Given the description of an element on the screen output the (x, y) to click on. 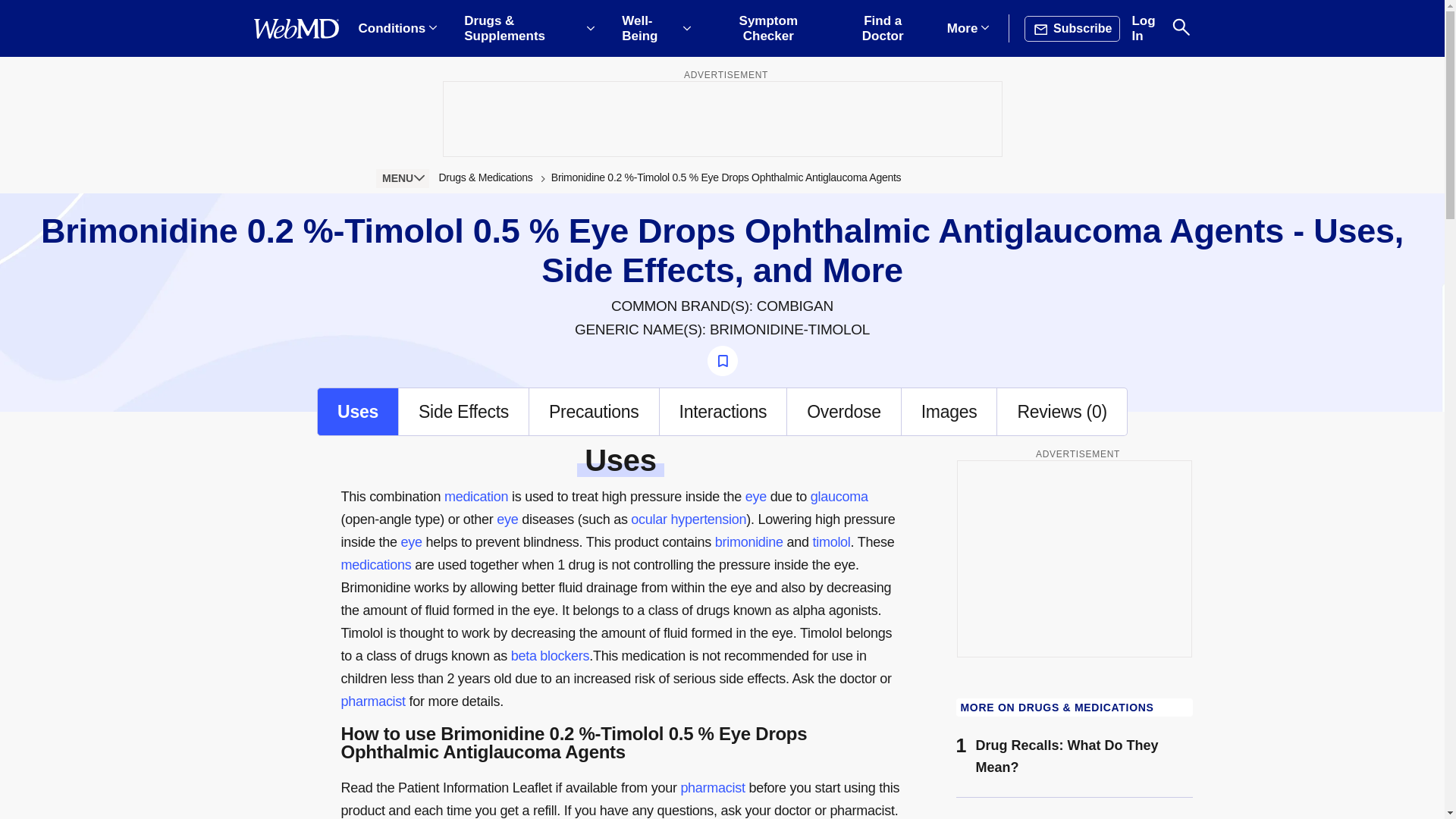
Conditions (397, 28)
3rd party ad content (721, 119)
3rd party ad content (1073, 558)
